Given the description of an element on the screen output the (x, y) to click on. 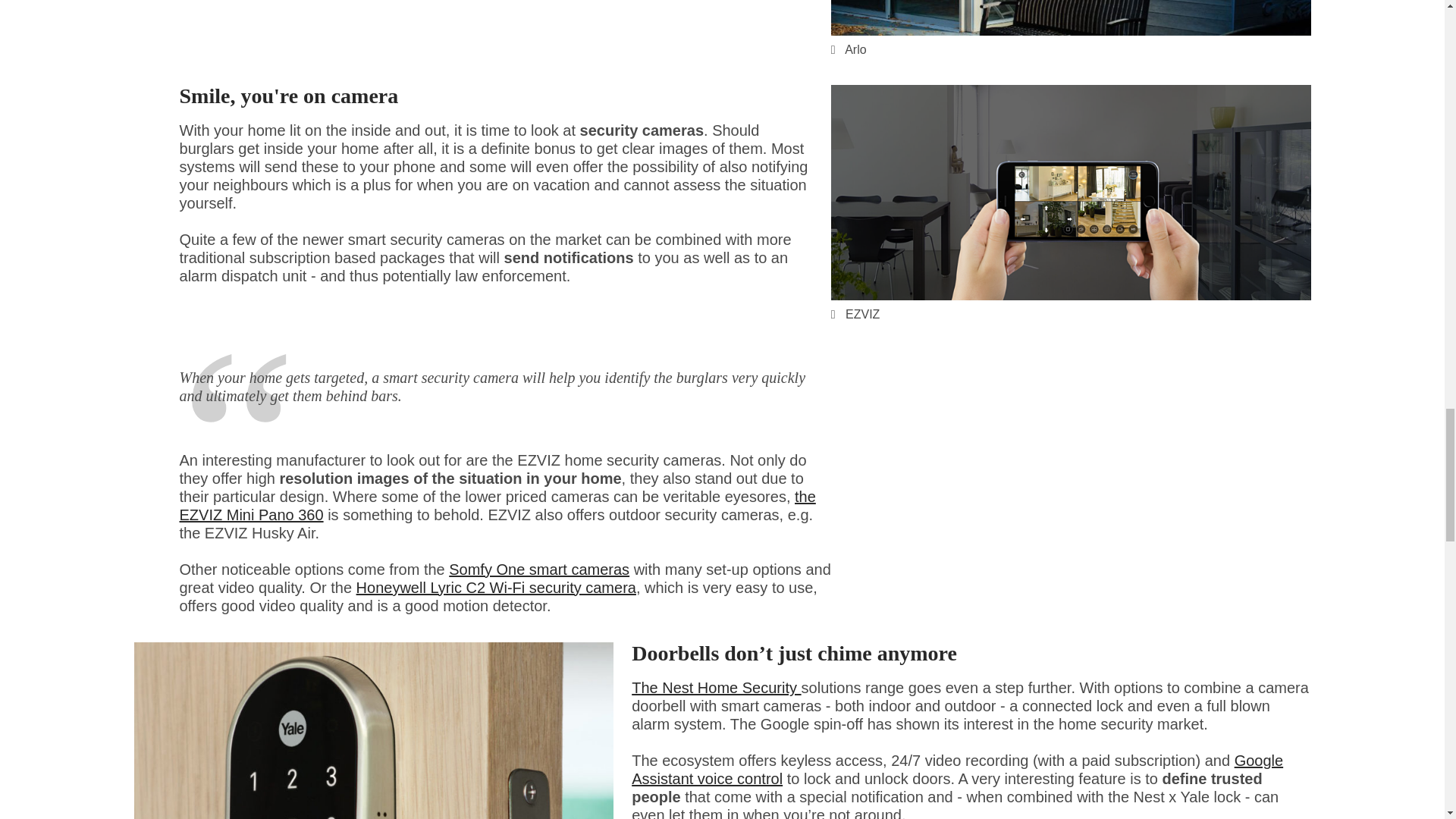
Honeywell Lyric C2 Wi-Fi security camera (496, 587)
the EZVIZ Mini Pano 360 (497, 505)
Somfy One smart cameras (538, 569)
